Given the description of an element on the screen output the (x, y) to click on. 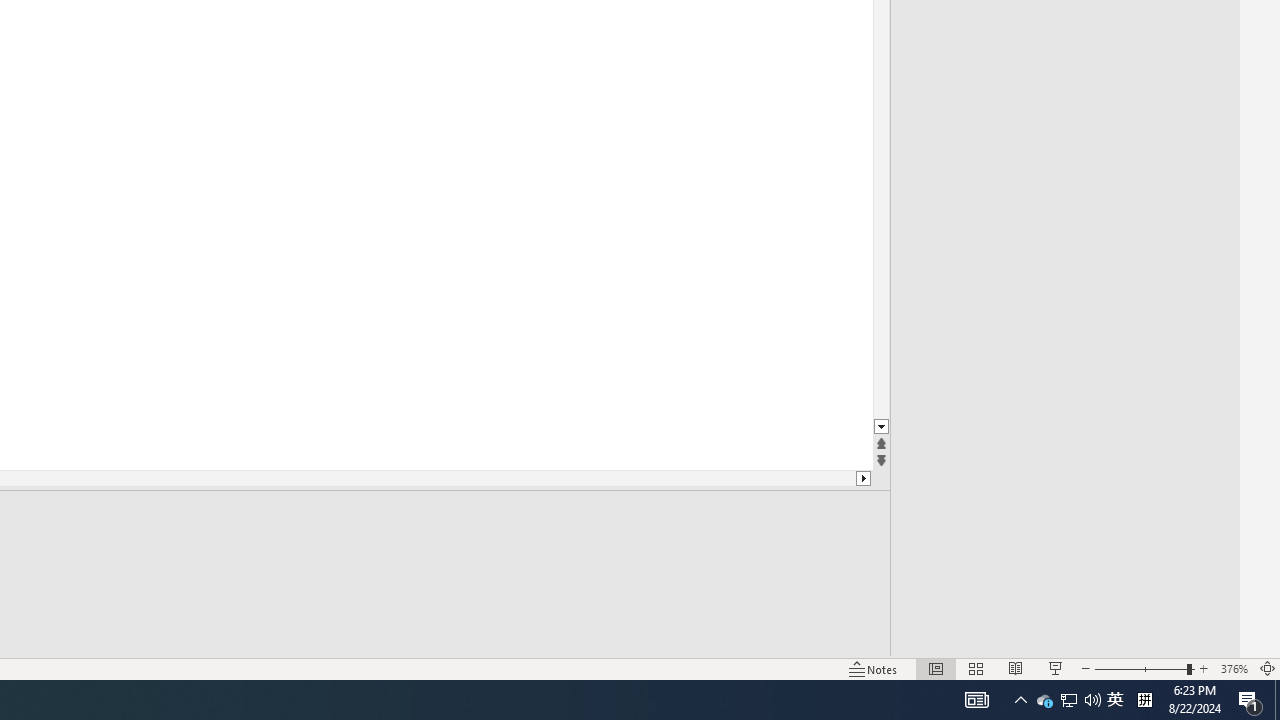
Zoom 376% (1234, 668)
